Given the description of an element on the screen output the (x, y) to click on. 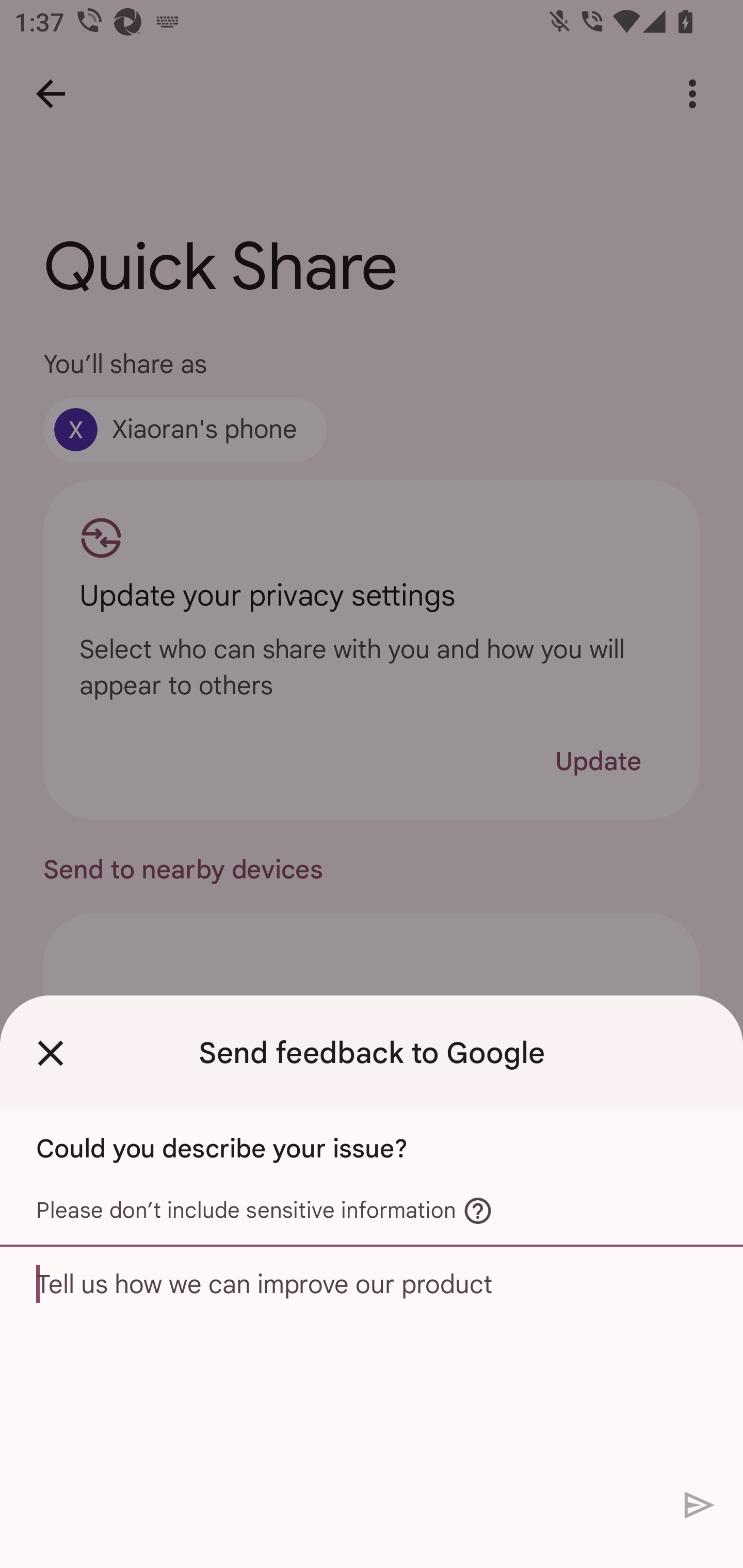
Close Feedback (50, 1052)
Tell us how we can improve our product (371, 1362)
Submit the feedback that you entered (699, 1504)
